Given the description of an element on the screen output the (x, y) to click on. 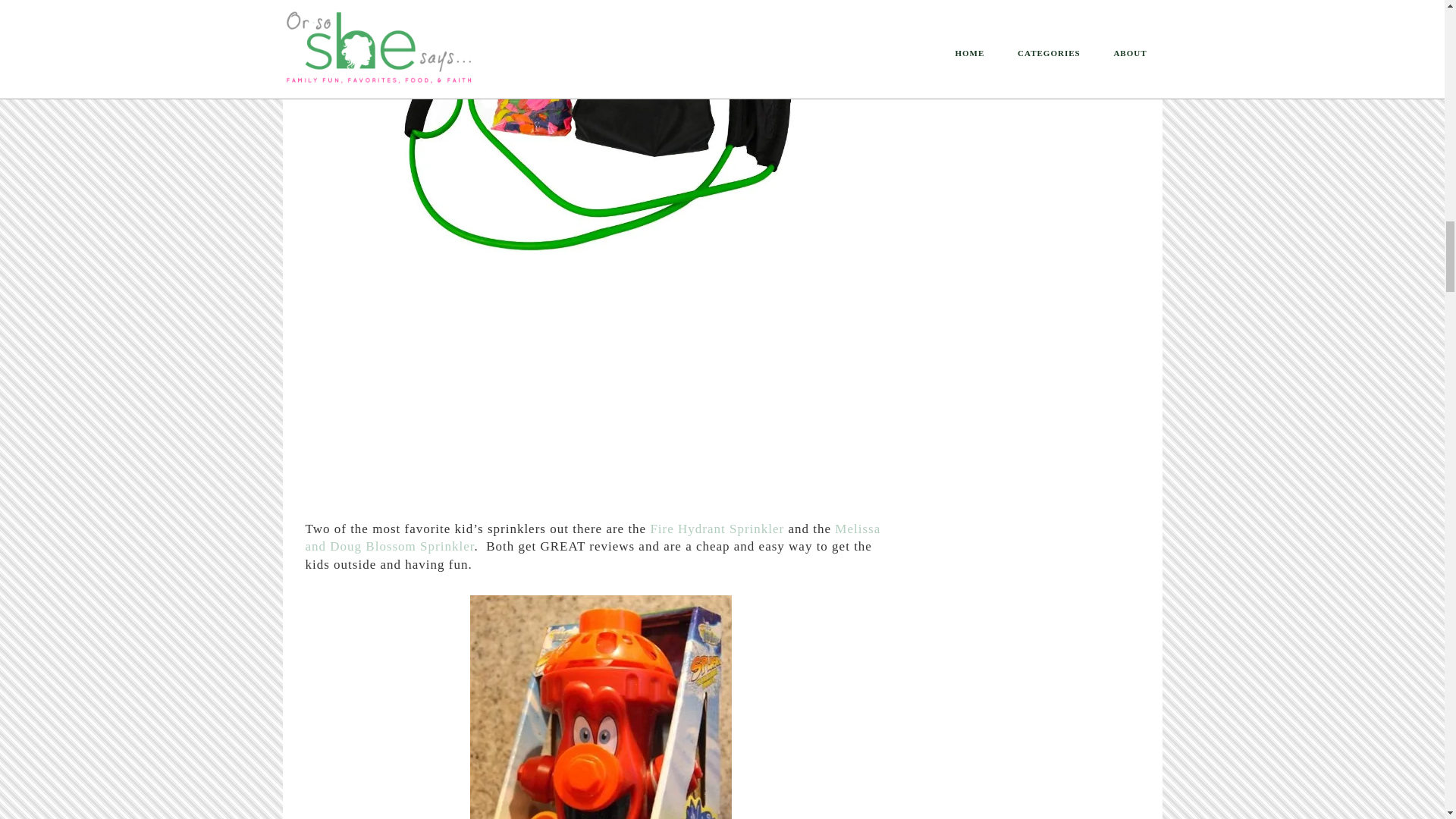
Fire Hydrant Sprinkler (716, 528)
Melissa and Doug Blossom Sprinkler (592, 537)
